Given the description of an element on the screen output the (x, y) to click on. 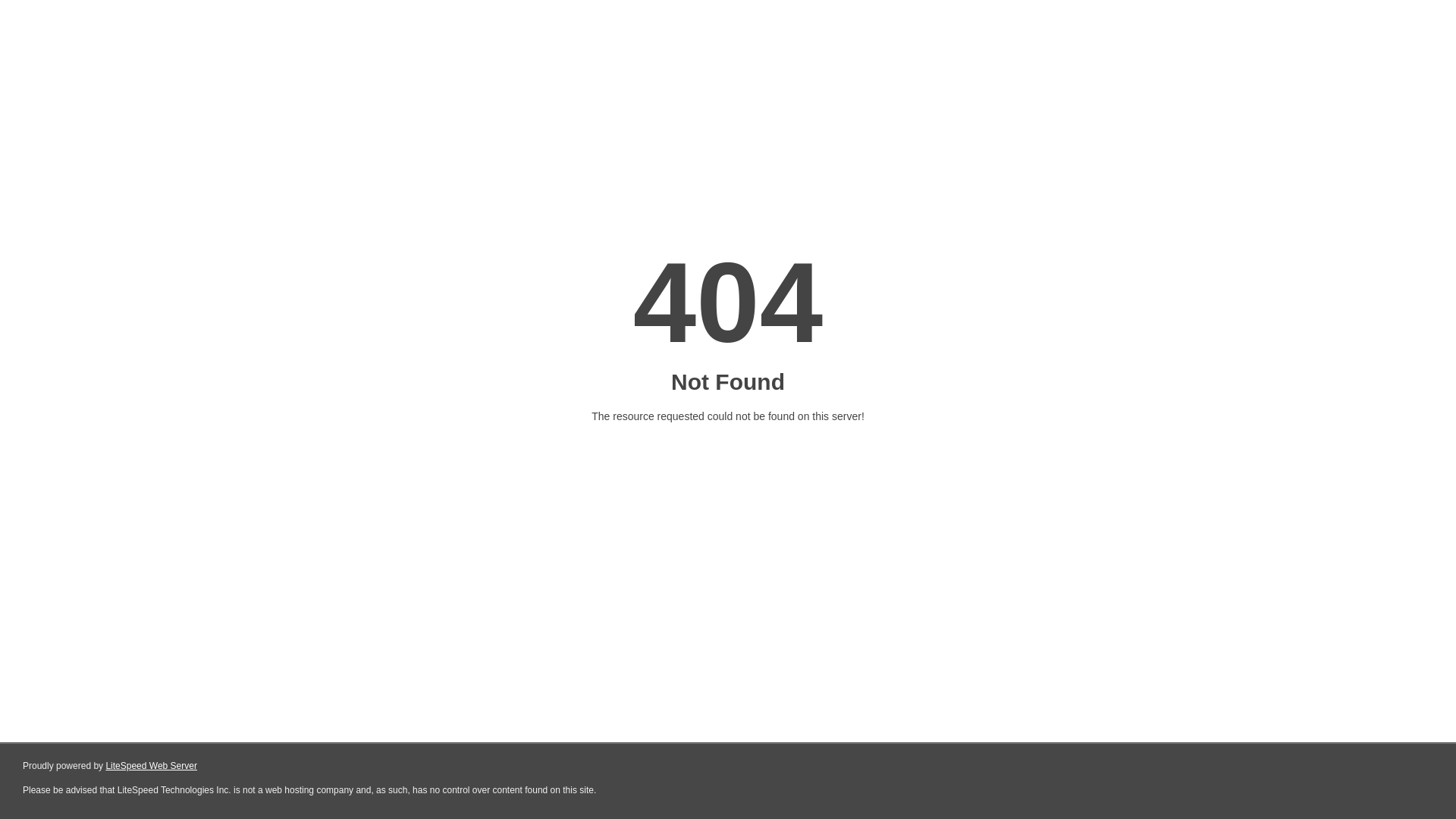
LiteSpeed Web Server Element type: text (151, 765)
